Given the description of an element on the screen output the (x, y) to click on. 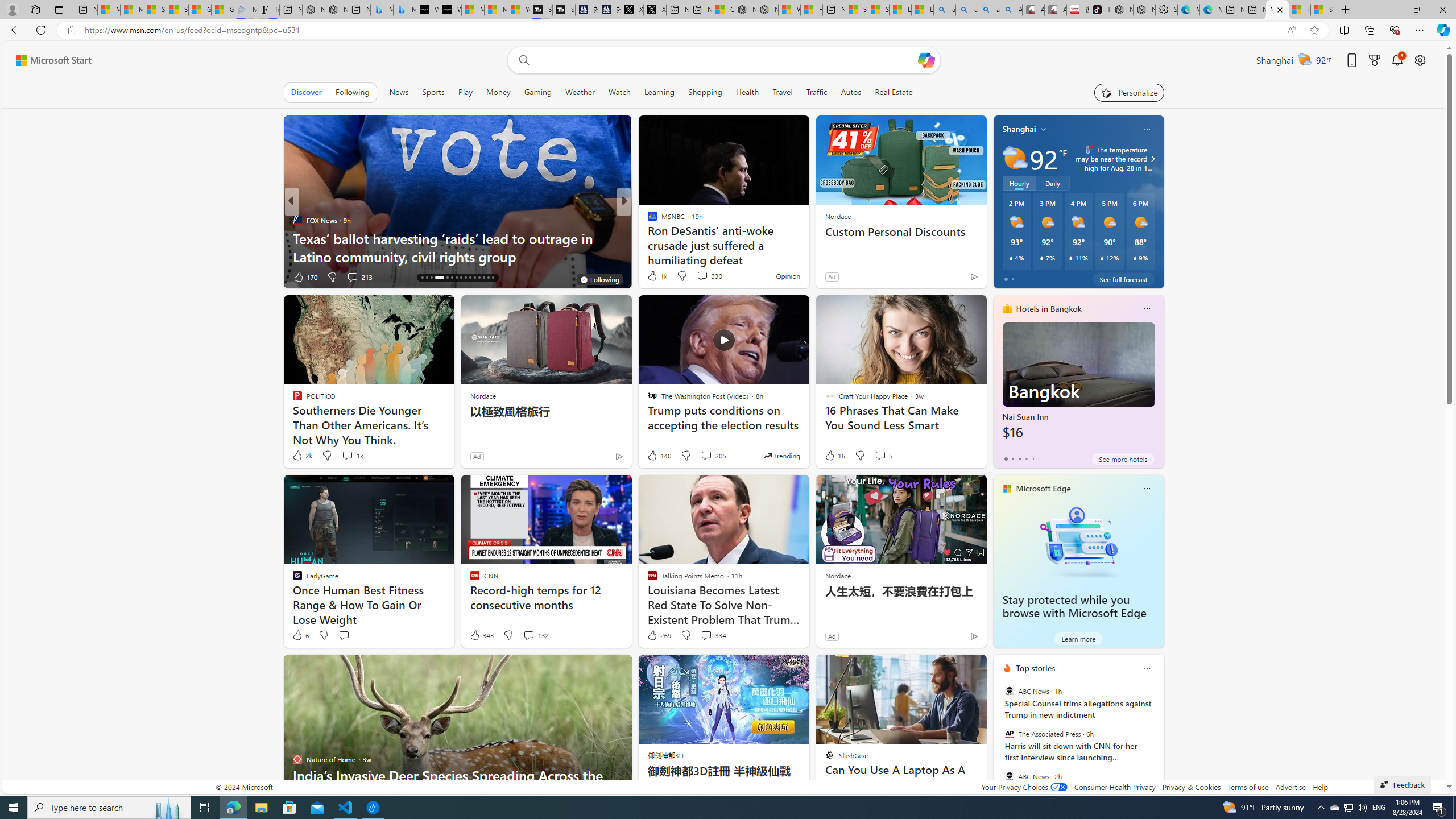
View comments 33 Comment (698, 276)
Nordace Siena Pro 15 Backpack (1144, 9)
6 Like (299, 634)
AutomationID: tab-21 (451, 277)
Hourly (1018, 183)
Learning (658, 92)
tab-1 (1012, 458)
View comments 205 Comment (705, 455)
AutomationID: tab-22 (456, 277)
View comments 33 Comment (704, 276)
